Given the description of an element on the screen output the (x, y) to click on. 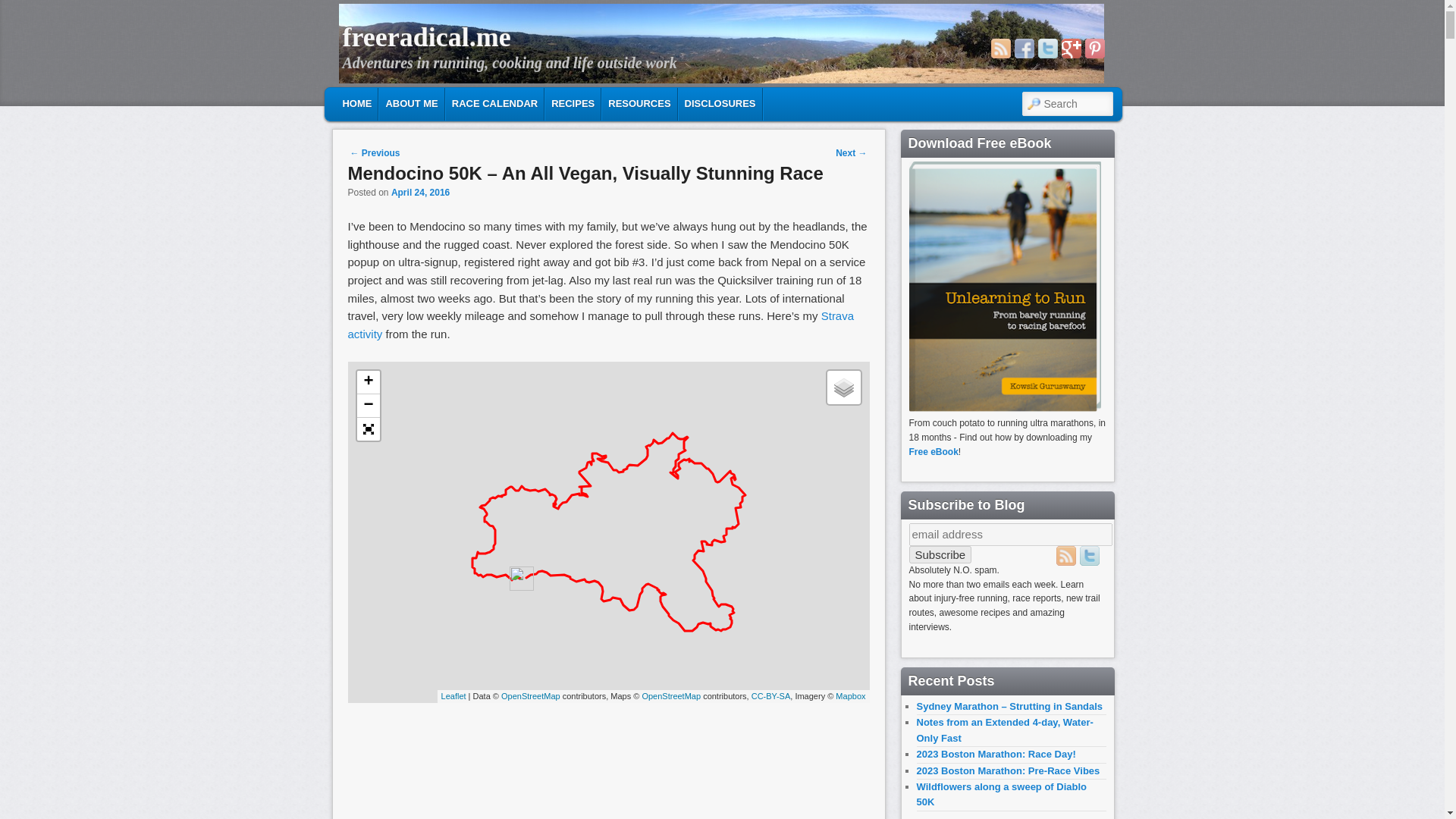
Strava activity (600, 324)
RSS (1000, 48)
Subscribe (939, 554)
OpenStreetMap (530, 696)
Pinterest (1093, 48)
Leaflet (453, 696)
Recipes (571, 103)
April 24, 2016 (420, 192)
SKIP TO SECONDARY CONTENT (432, 102)
CC-BY-SA (770, 696)
freeradical.me (426, 37)
Zoom in (367, 382)
SKIP TO PRIMARY CONTENT (421, 102)
Twitter (1046, 48)
RECIPES (571, 103)
